Given the description of an element on the screen output the (x, y) to click on. 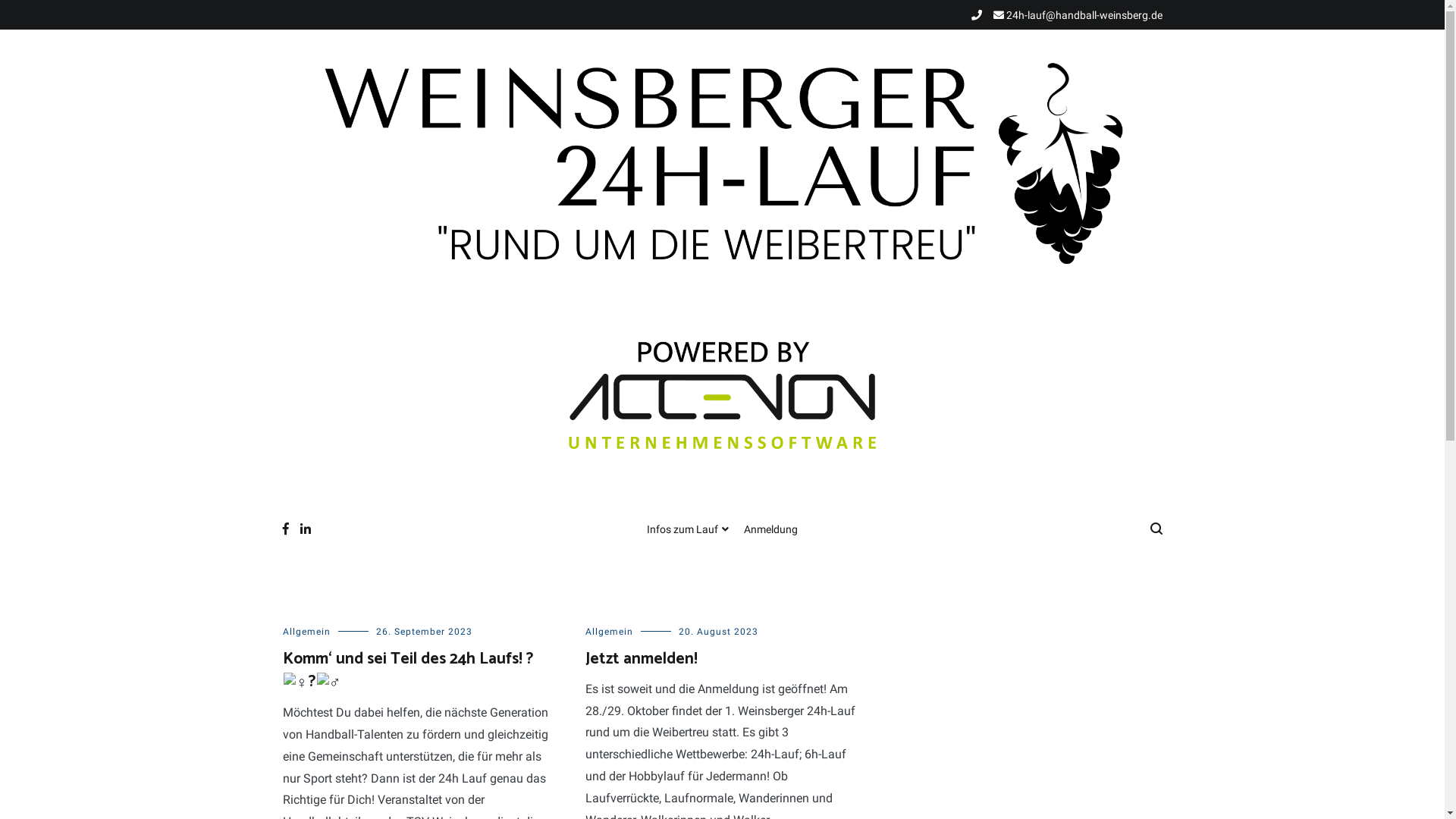
24h-lauf@handball-weinsberg.de Element type: text (1077, 15)
Anmeldung Element type: text (770, 529)
Allgemein Element type: text (305, 631)
20. August 2023 Element type: text (718, 631)
Jetzt anmelden! Element type: text (641, 658)
Suche Element type: text (37, 16)
1. Weinsberger 24h-Lauf Element type: text (367, 506)
Allgemein Element type: text (609, 631)
Infos zum Lauf Element type: text (687, 529)
26. September 2023 Element type: text (424, 631)
